Given the description of an element on the screen output the (x, y) to click on. 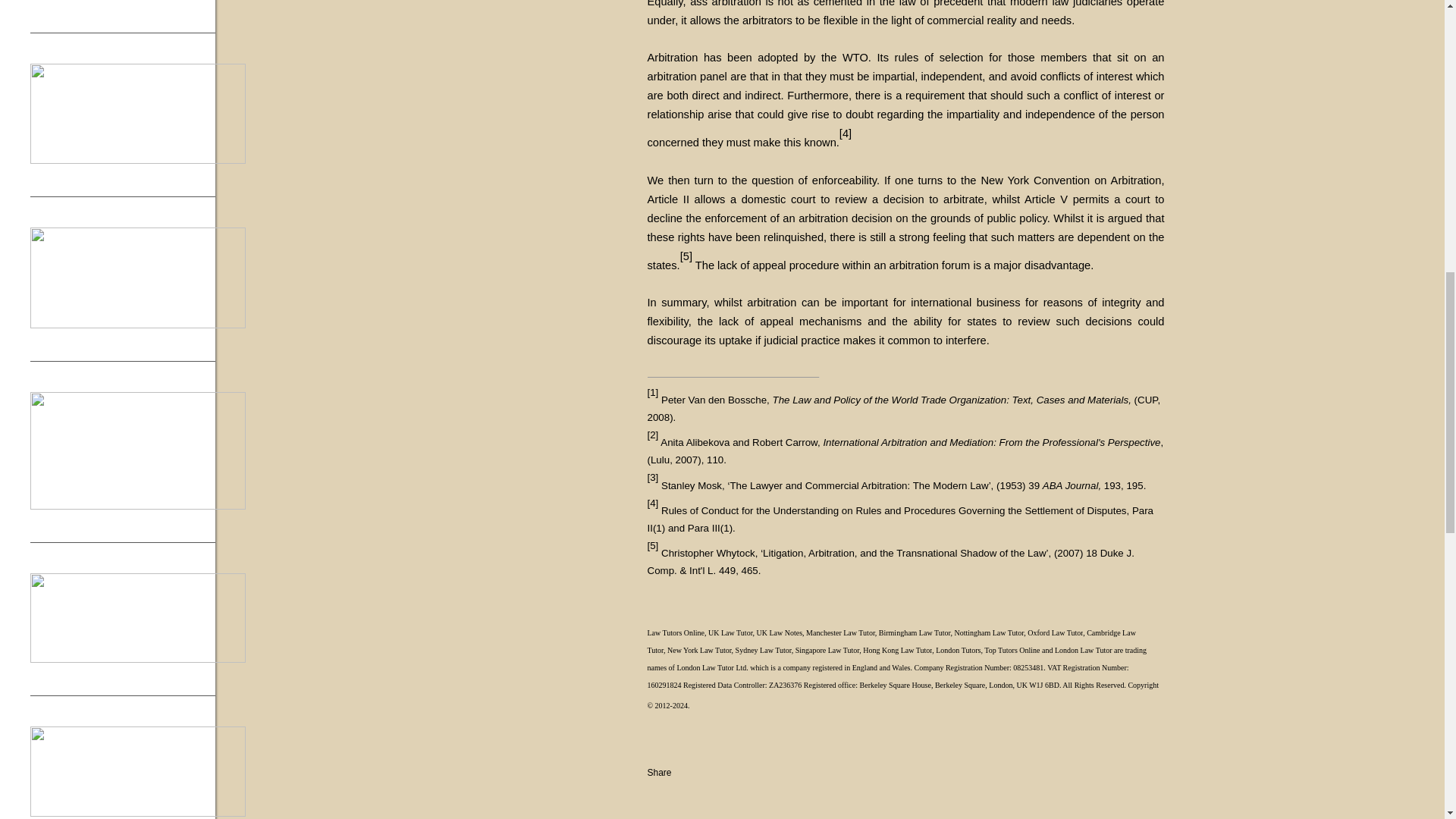
London Law Tutor Ltd. (712, 667)
London Tutors,  (960, 650)
London Law Tutor (1083, 650)
Nottingham Law Tutor (988, 632)
Singapore Law Tutor (827, 650)
Birmingham Law Tutor (914, 632)
Cambridge Law Tutor (891, 641)
Manchester Law Tutor (840, 632)
Hong Kong Law Tutor (897, 650)
Oxford Law Tutor (1055, 632)
UK Law Tutor (729, 632)
New York Law Tutor (699, 650)
Sydney Law Tutor (763, 650)
Law Tutors Online (675, 632)
Top Tutors Online (1011, 650)
